Given the description of an element on the screen output the (x, y) to click on. 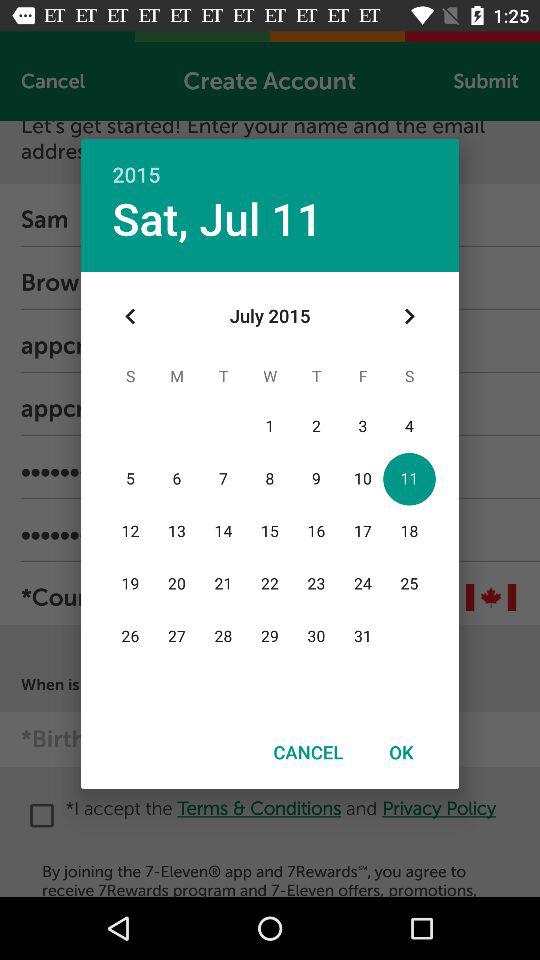
turn on the icon at the top right corner (408, 316)
